Given the description of an element on the screen output the (x, y) to click on. 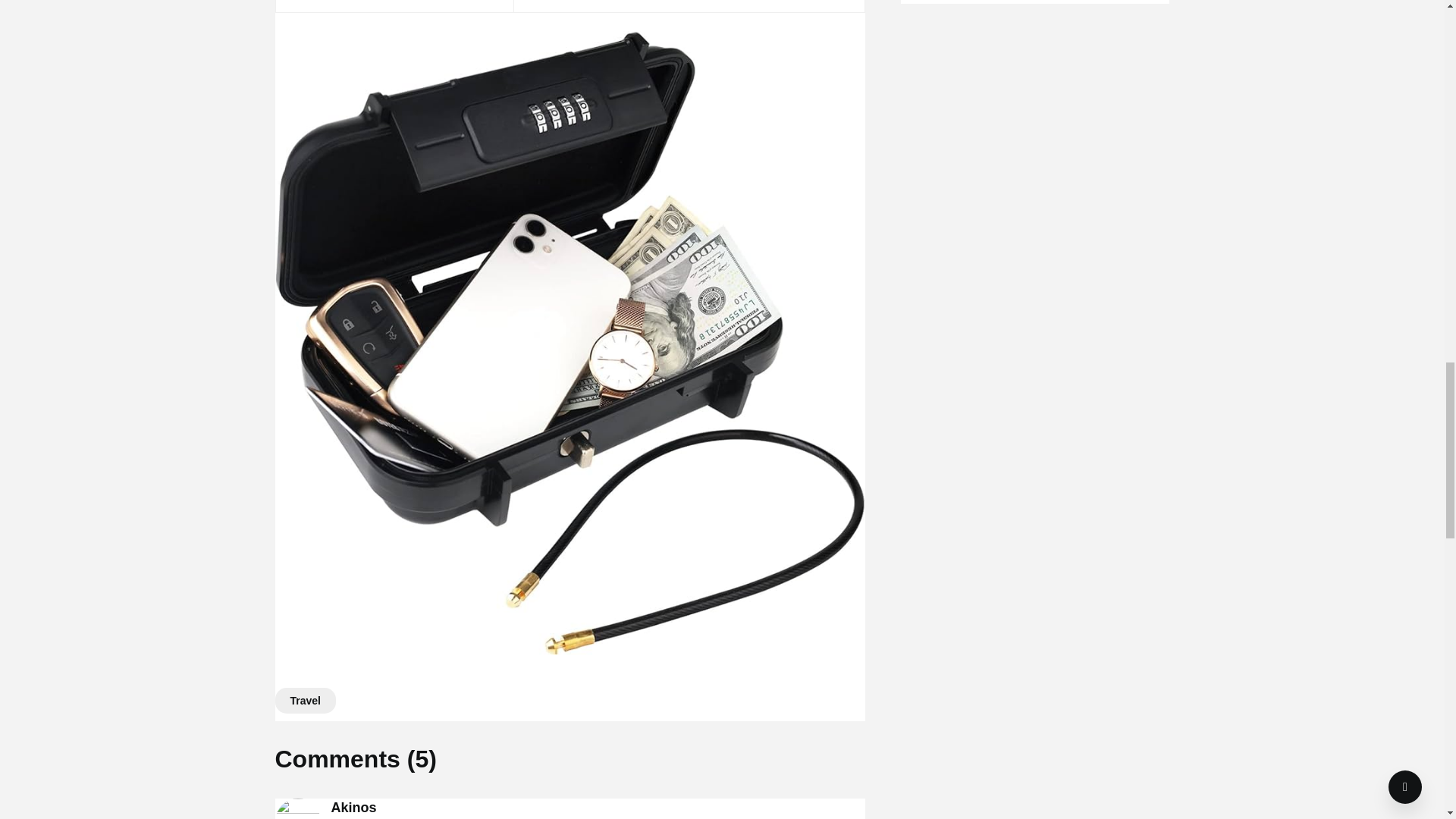
Travel (304, 700)
